Given the description of an element on the screen output the (x, y) to click on. 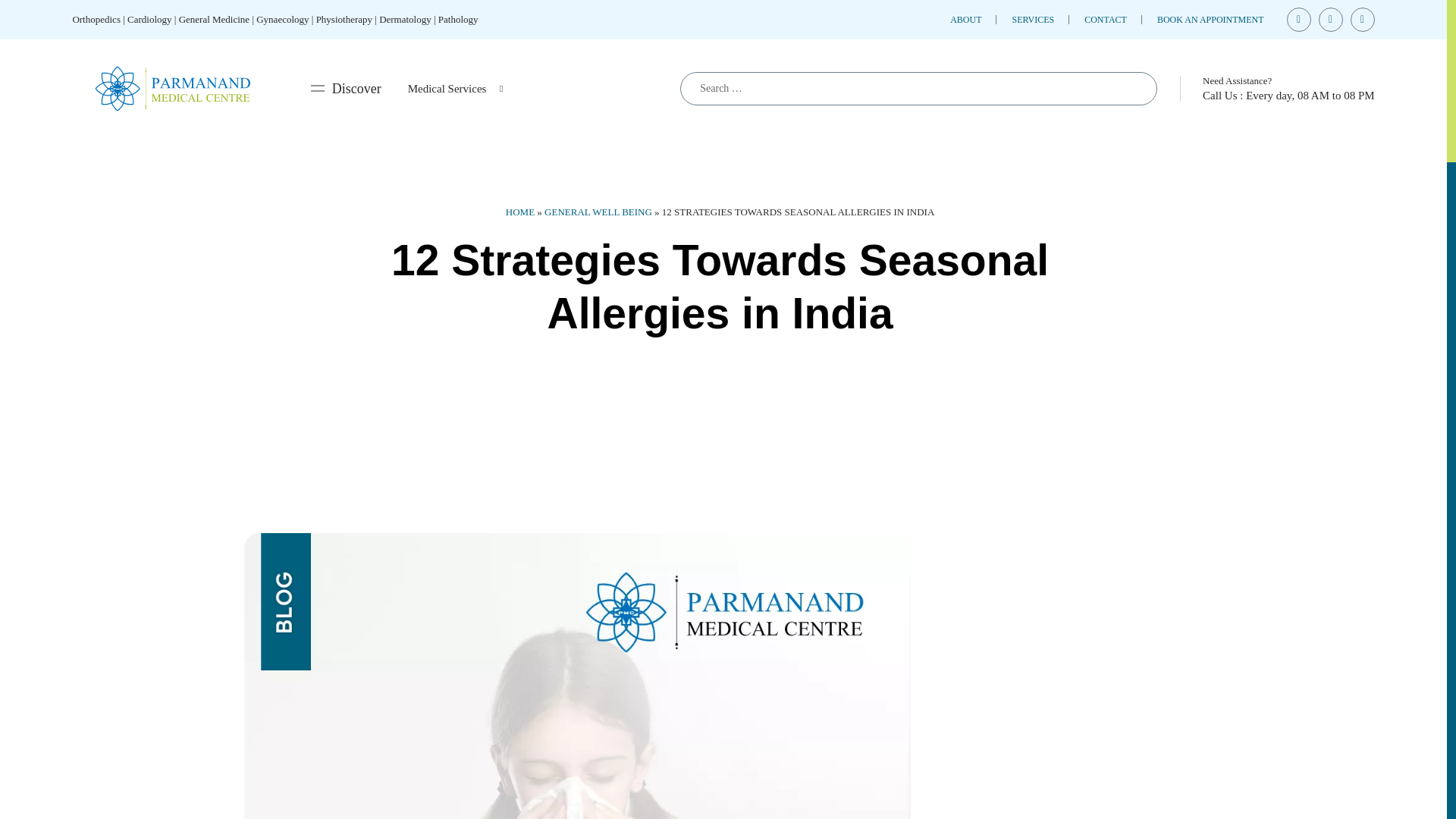
HOME (519, 211)
BOOK AN APPOINTMENT (1210, 19)
Discover (346, 88)
GENERAL WELL BEING (598, 211)
Call Us : Every day, 08 AM to 08 PM (1288, 95)
ABOUT (965, 19)
CONTACT (1105, 19)
Search (1130, 88)
Medical Services (455, 87)
SERVICES (1032, 19)
